Given the description of an element on the screen output the (x, y) to click on. 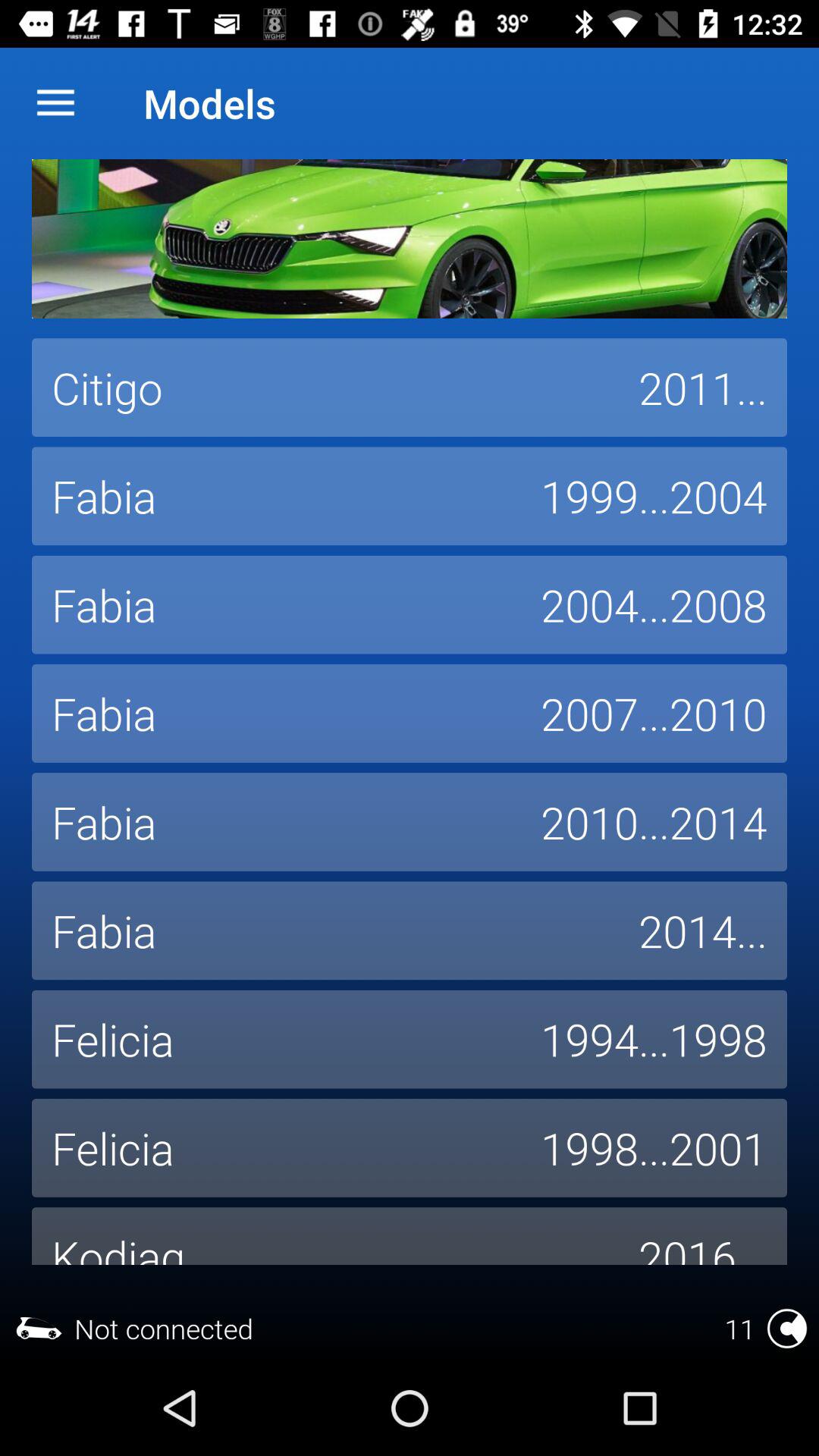
choose the citigo item (324, 387)
